Given the description of an element on the screen output the (x, y) to click on. 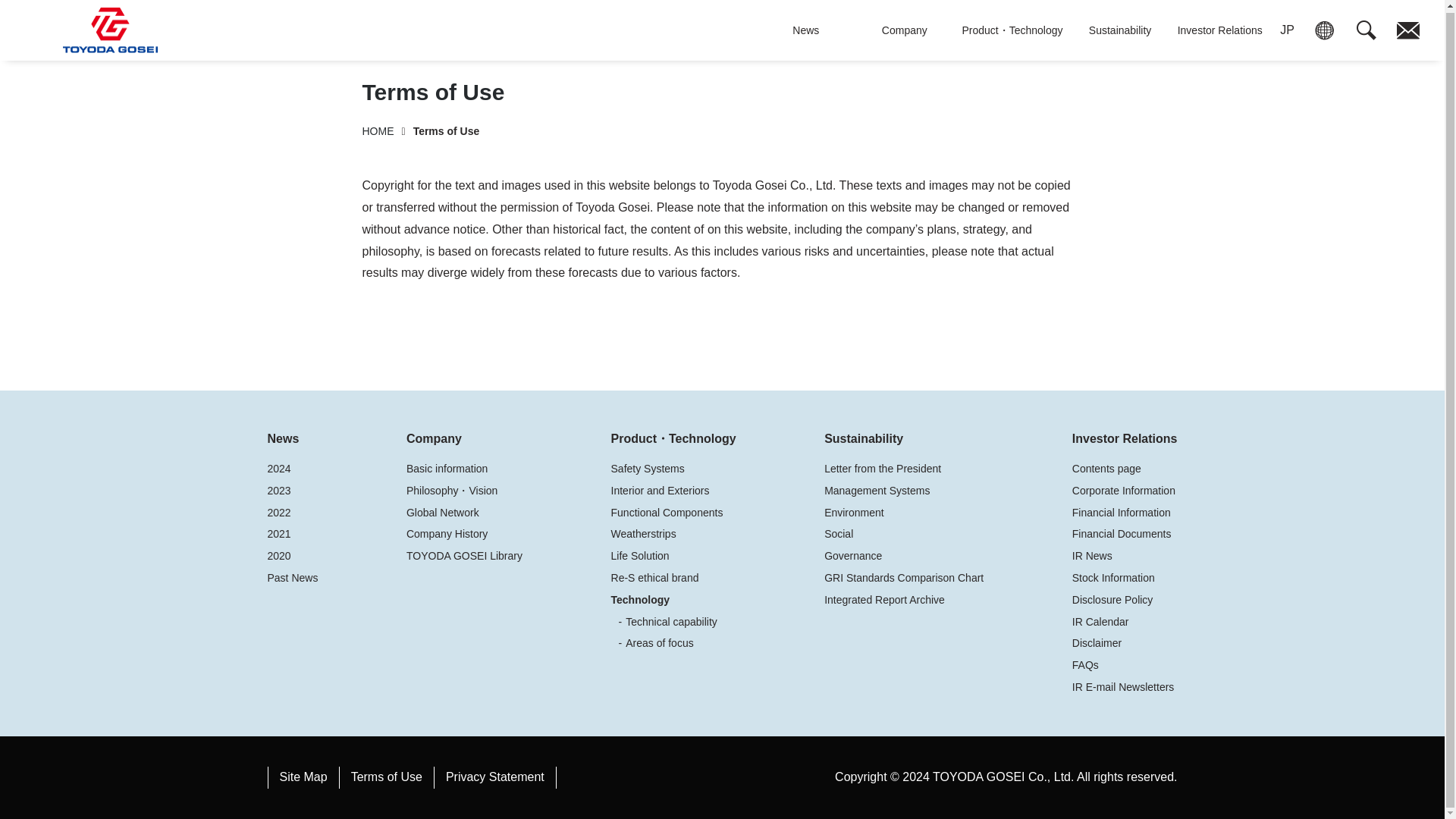
News (805, 29)
